Given the description of an element on the screen output the (x, y) to click on. 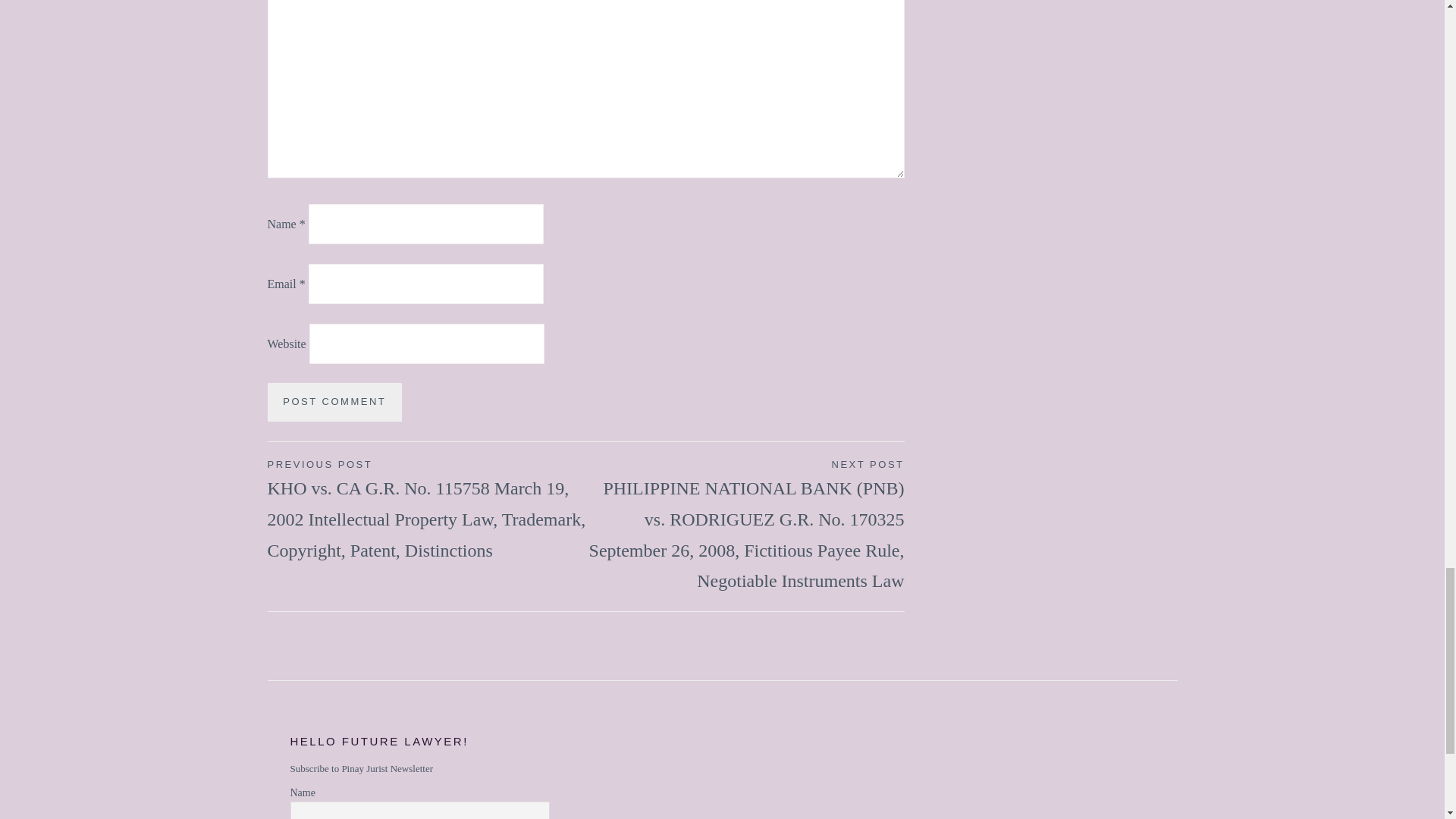
Post Comment (333, 402)
Post Comment (333, 402)
